Given the description of an element on the screen output the (x, y) to click on. 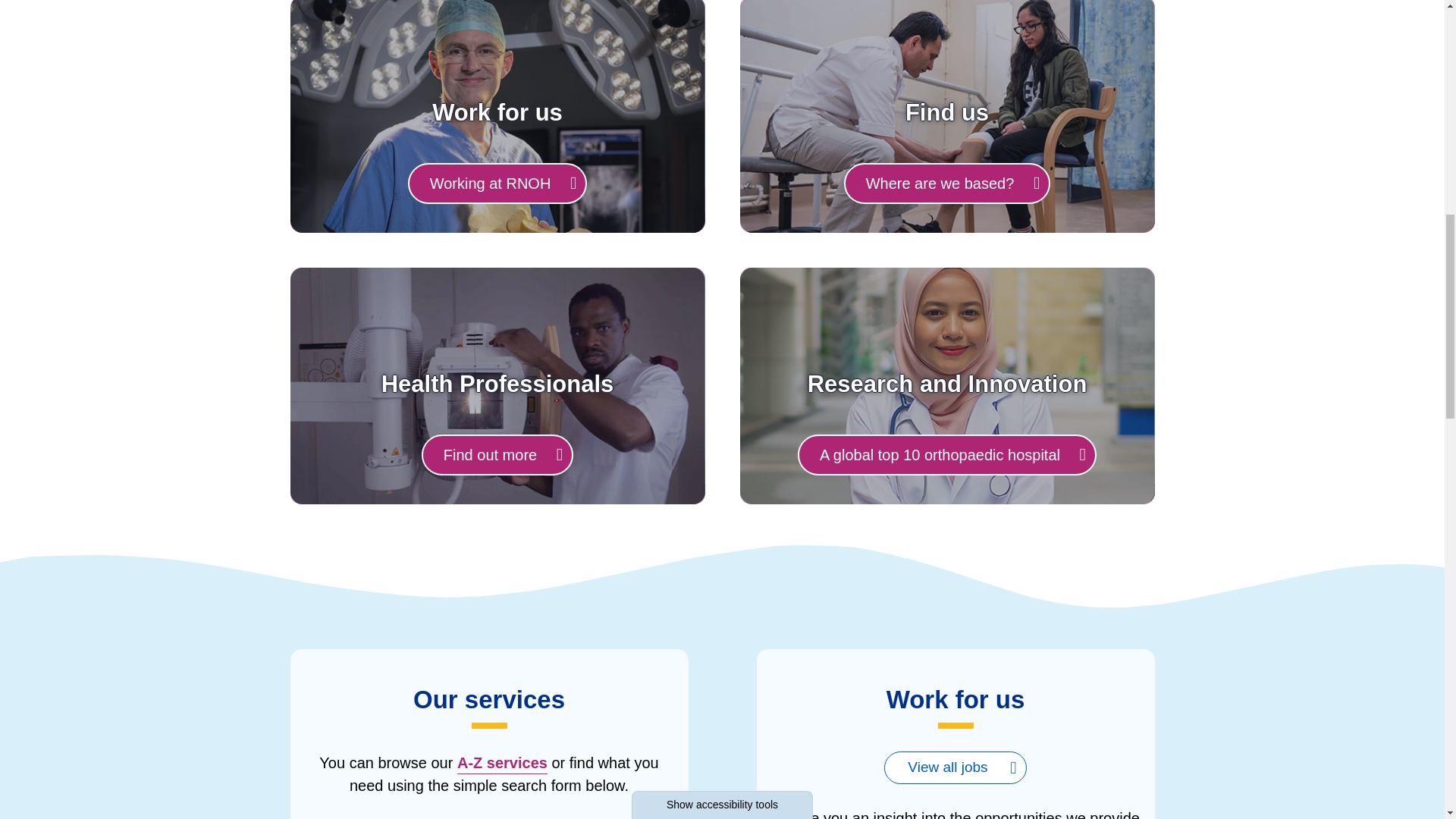
Current Vacancies (954, 767)
